Given the description of an element on the screen output the (x, y) to click on. 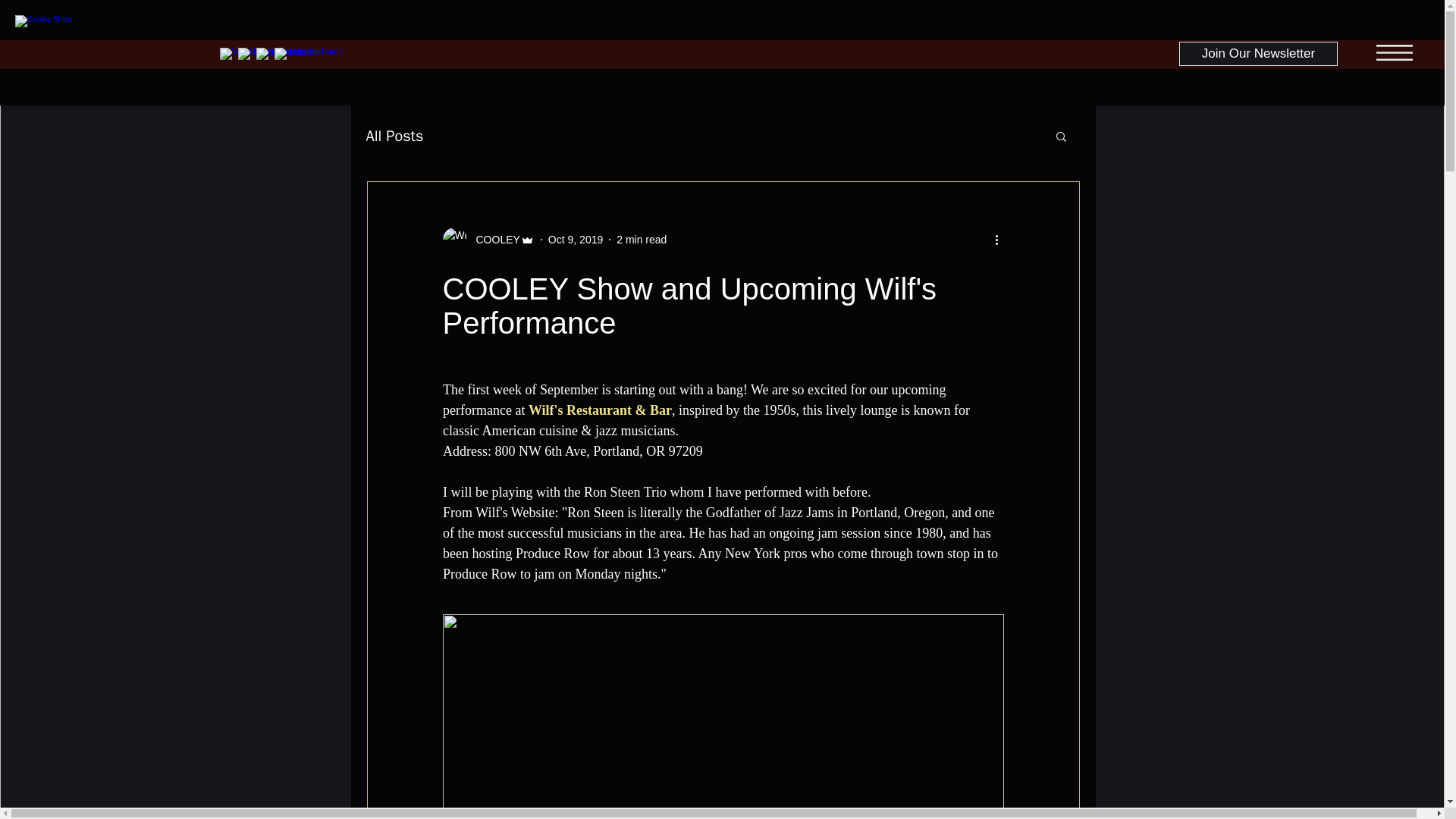
COOLEY (493, 239)
All Posts (394, 136)
2 min read (640, 239)
Join Our Newsletter (1258, 53)
Cooley Show (103, 57)
Oct 9, 2019 (575, 239)
